Given the description of an element on the screen output the (x, y) to click on. 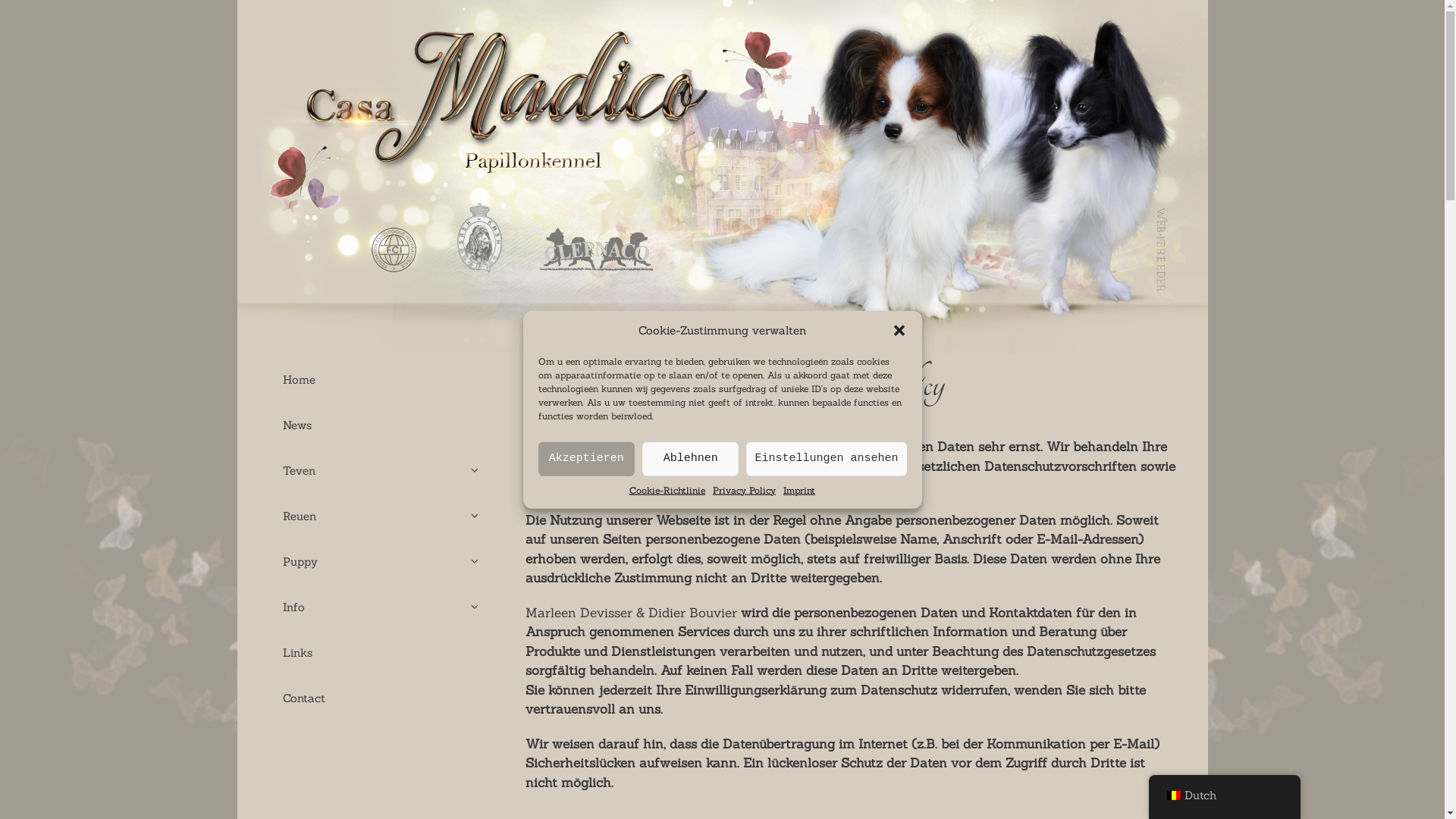
Teven Element type: text (380, 470)
Dutch Element type: hover (1172, 795)
Dutch Element type: text (1223, 795)
News Element type: text (380, 425)
Privacy Policy Element type: text (743, 489)
Home Element type: text (380, 379)
Links Element type: text (380, 652)
Imprint Element type: text (799, 489)
Einstellungen ansehen Element type: text (826, 458)
Reuen Element type: text (380, 516)
Ablehnen Element type: text (690, 458)
Info Element type: text (380, 607)
Puppy Element type: text (380, 561)
Cookie-Richtlinie Element type: text (667, 489)
Akzeptieren Element type: text (586, 458)
Contact Element type: text (380, 698)
